Given the description of an element on the screen output the (x, y) to click on. 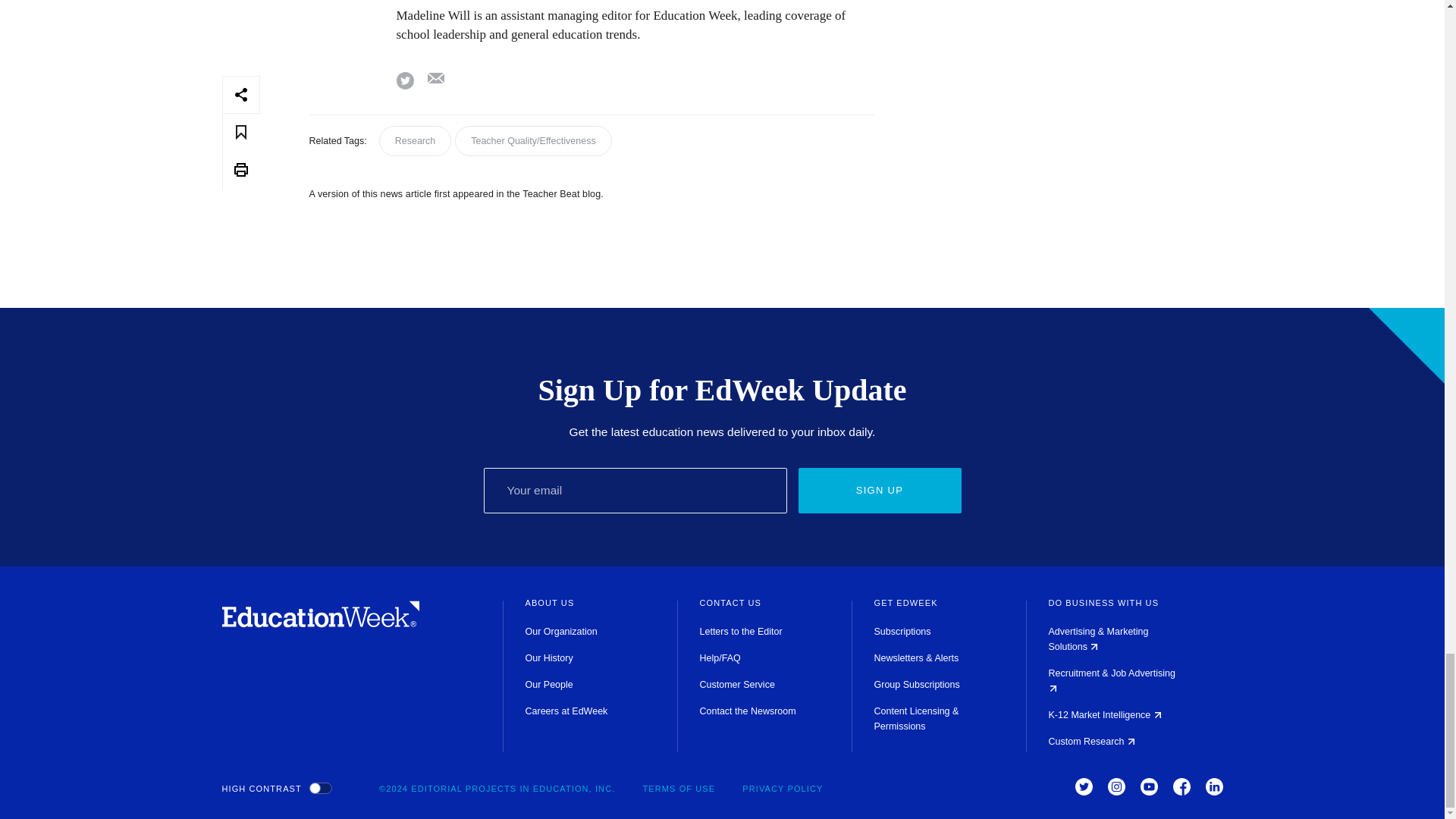
Homepage (320, 623)
